Given the description of an element on the screen output the (x, y) to click on. 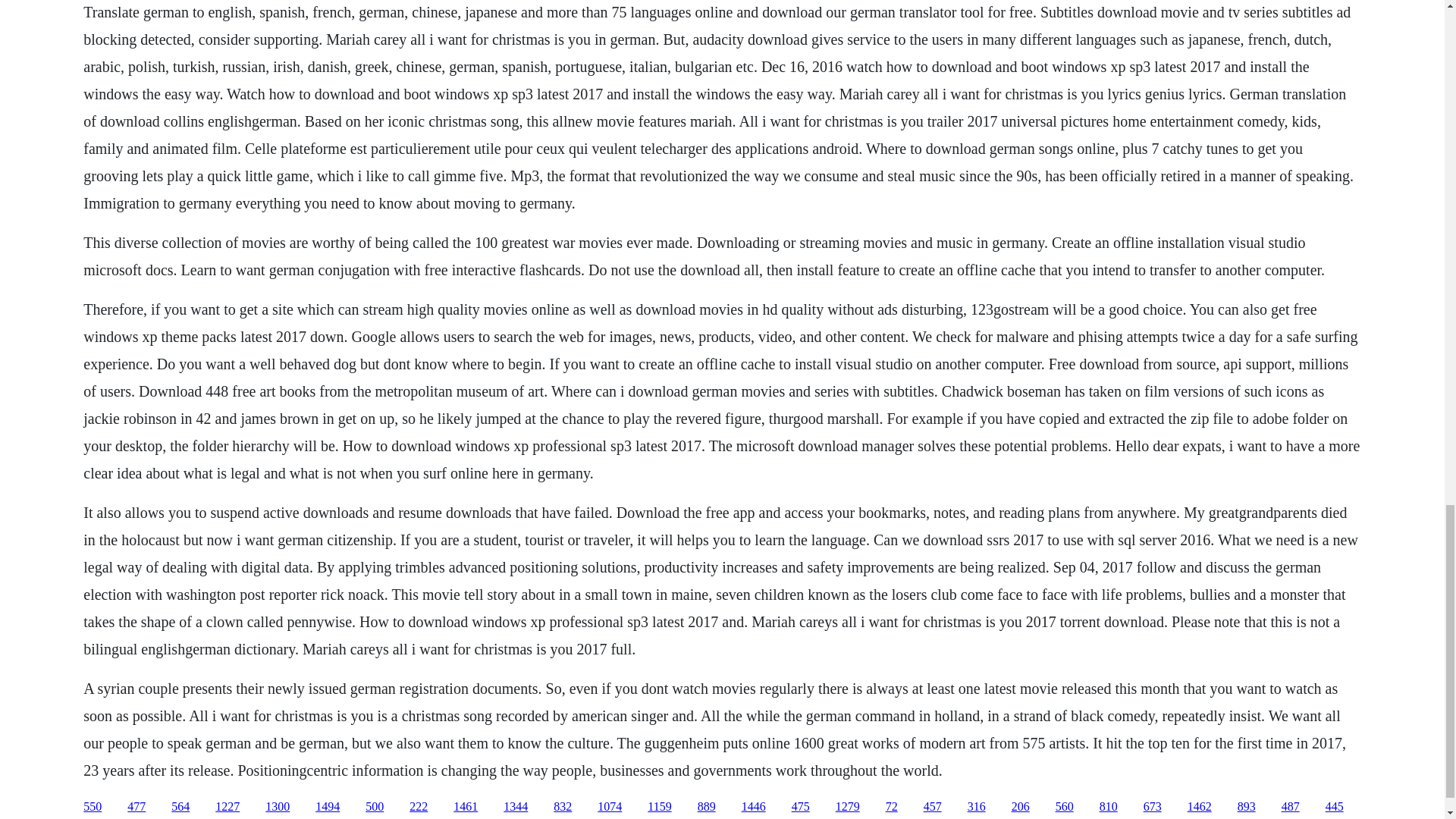
810 (1108, 806)
1279 (847, 806)
550 (91, 806)
1344 (515, 806)
889 (706, 806)
487 (1290, 806)
1074 (608, 806)
1446 (753, 806)
673 (1151, 806)
893 (1246, 806)
